Given the description of an element on the screen output the (x, y) to click on. 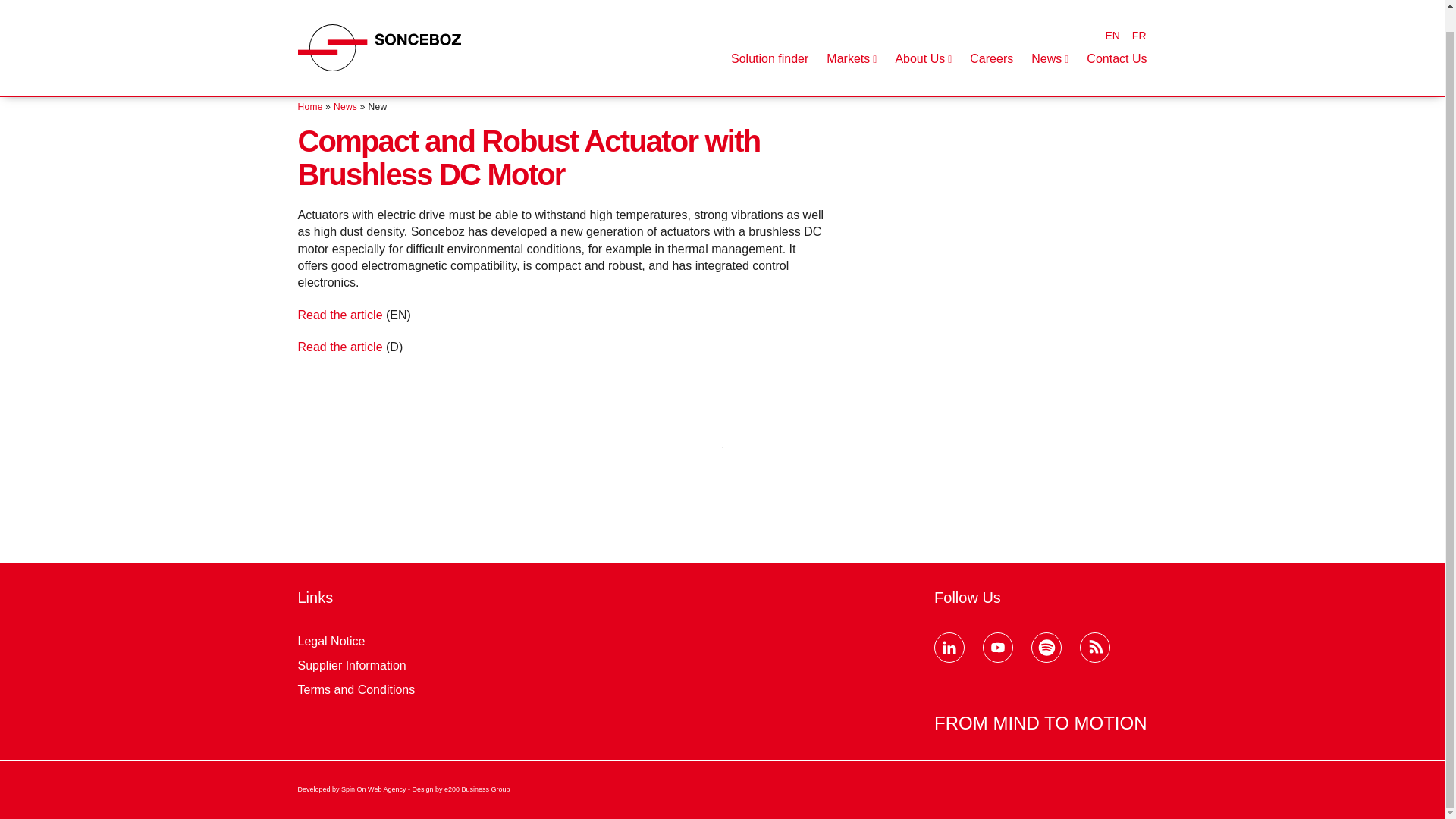
Markets (851, 37)
Read the article (339, 314)
Read the article (339, 346)
Supplier Information (351, 665)
Legal Notice (331, 640)
Careers (991, 37)
Solution finder (769, 37)
Home (309, 106)
Contact Us (1116, 37)
FR (1139, 13)
